Given the description of an element on the screen output the (x, y) to click on. 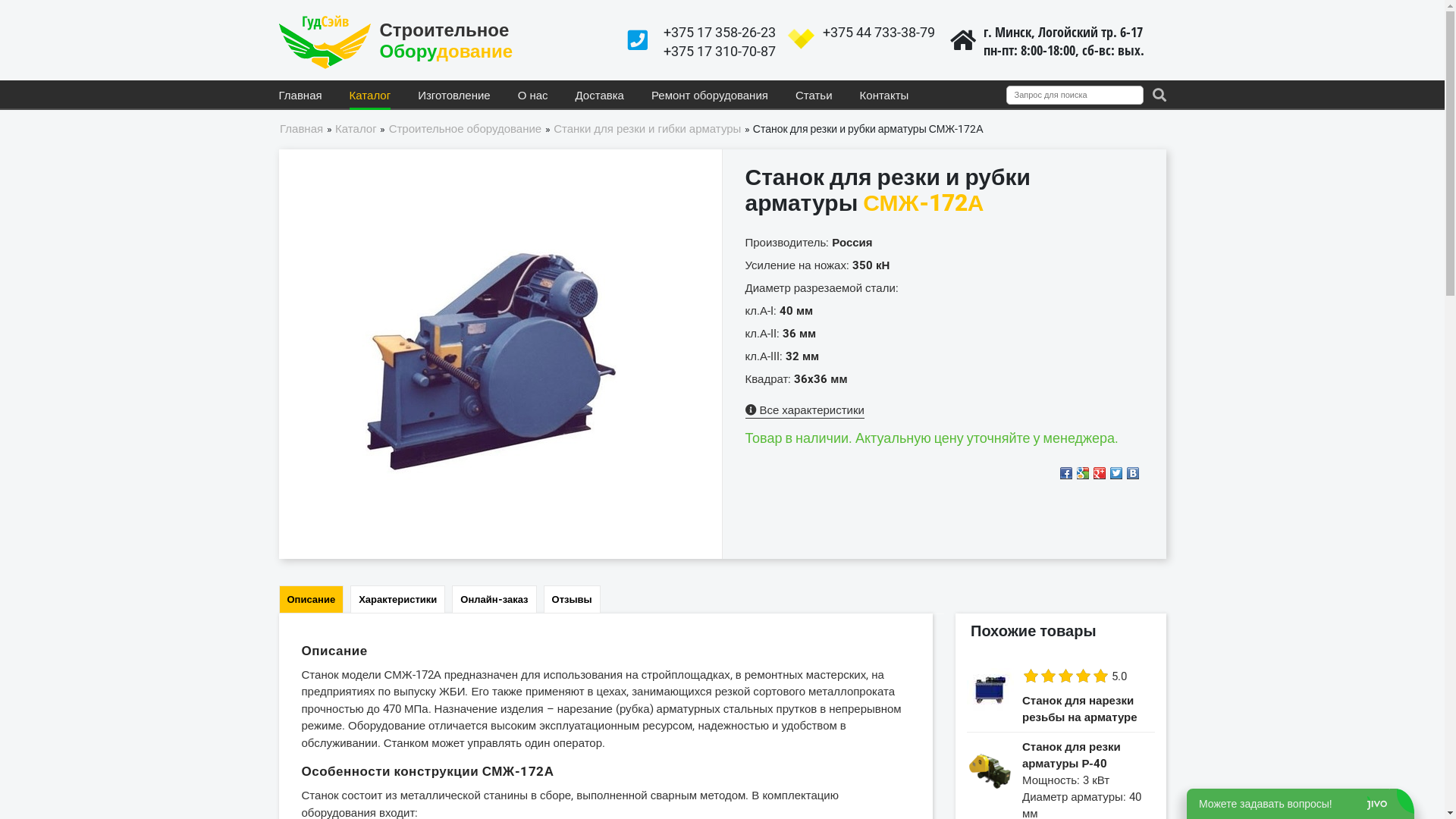
+375 17 310-70-87 Element type: text (718, 51)
+375 44 733-38-79 Element type: text (878, 32)
+375 17 358-26-23 Element type: text (718, 32)
